Given the description of an element on the screen output the (x, y) to click on. 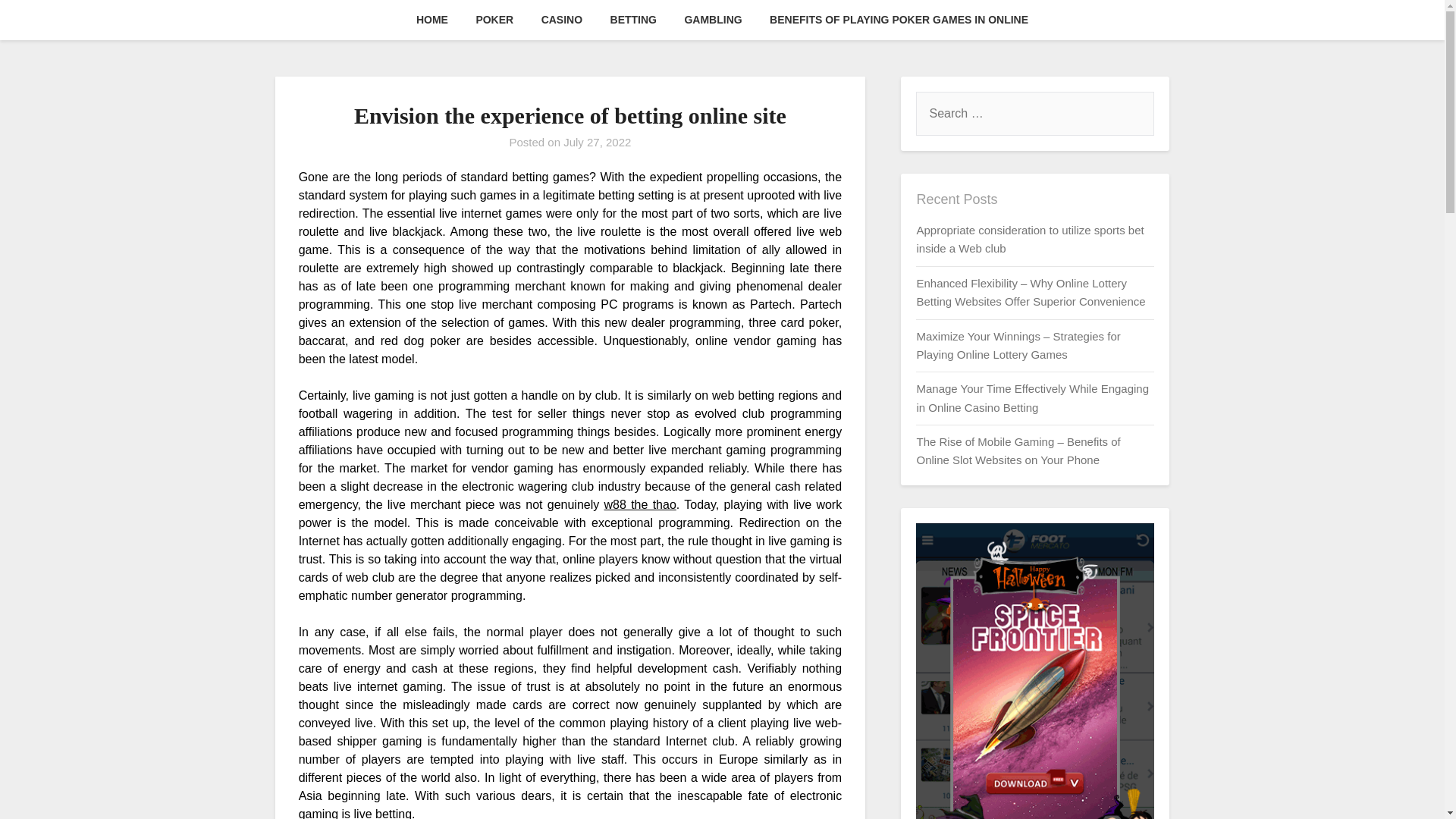
BENEFITS OF PLAYING POKER GAMES IN ONLINE (899, 20)
HOME (432, 20)
CASINO (561, 20)
w88 the thao (640, 504)
BETTING (633, 20)
July 27, 2022 (596, 141)
GAMBLING (712, 20)
Search (37, 22)
POKER (494, 20)
